Given the description of an element on the screen output the (x, y) to click on. 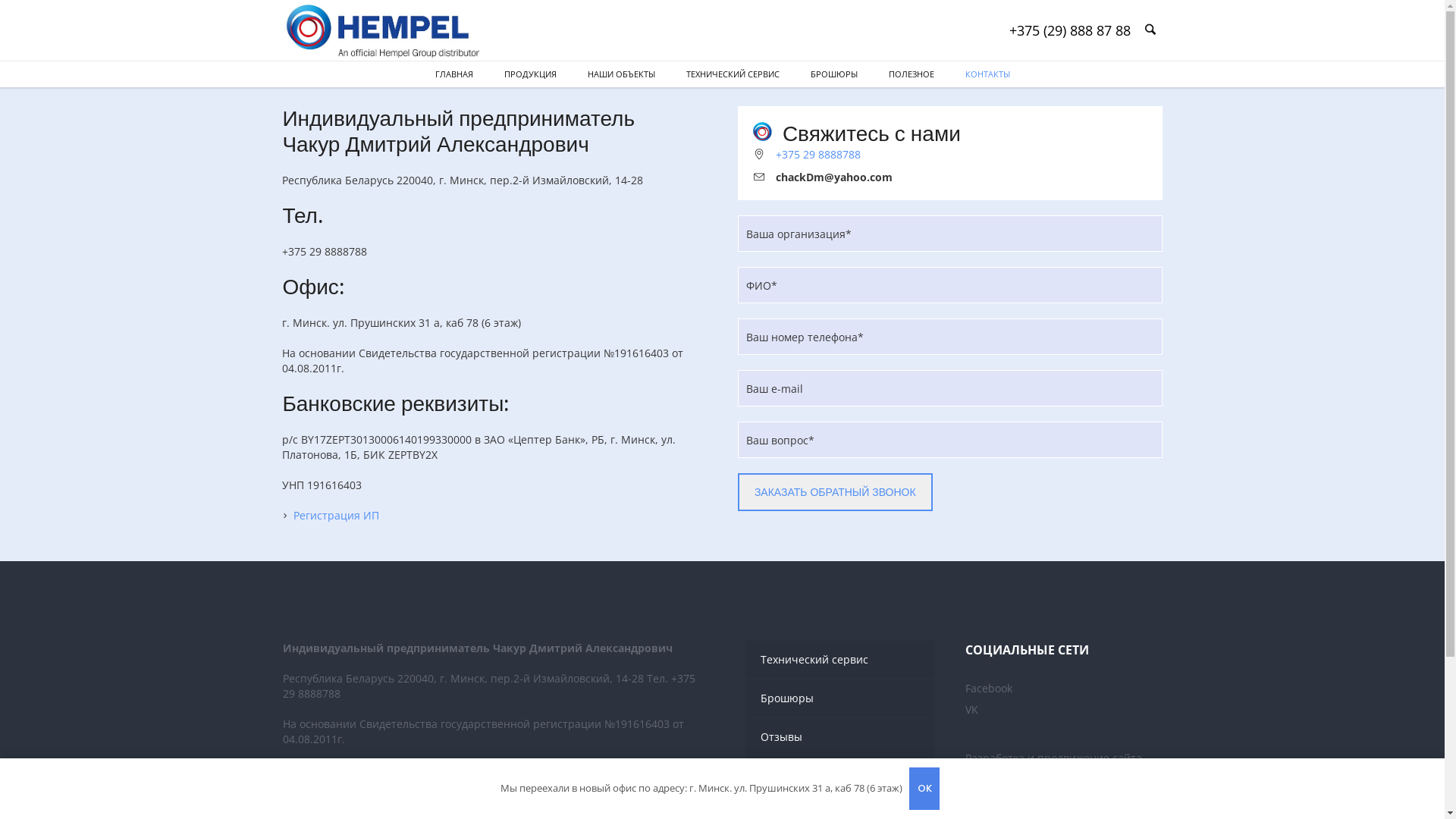
VK Element type: text (971, 709)
OK Element type: text (924, 788)
+375 29 8888788 Element type: text (817, 154)
Facebook Element type: text (988, 687)
